Given the description of an element on the screen output the (x, y) to click on. 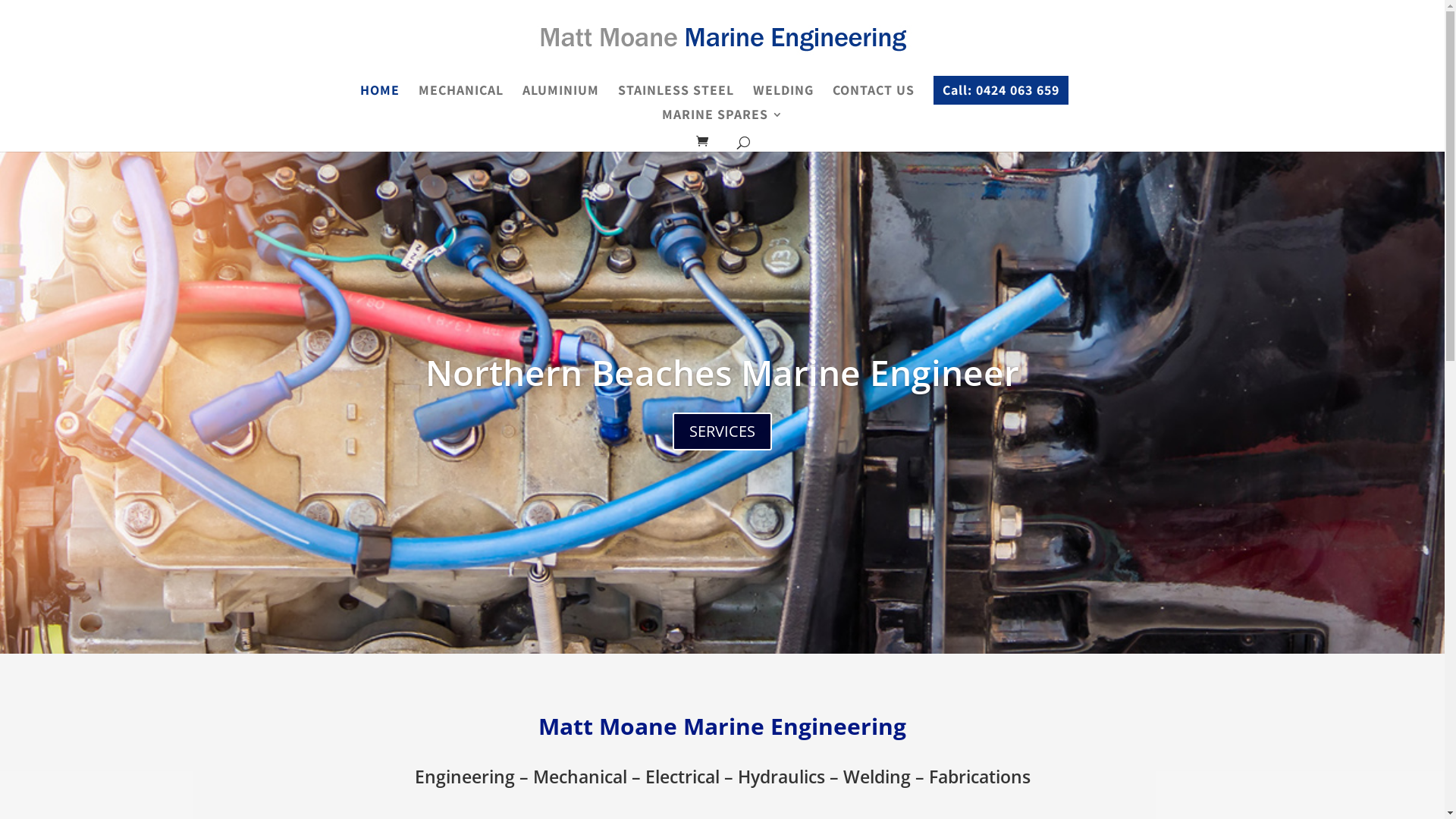
SERVICES Element type: text (721, 431)
MECHANICAL Element type: text (460, 96)
STAINLESS STEEL Element type: text (675, 96)
Call: 0424 063 659 Element type: text (999, 89)
HOME Element type: text (378, 96)
WELDING Element type: text (782, 96)
MARINE SPARES Element type: text (721, 121)
Northern Beaches Marine Engineer Element type: text (722, 371)
CONTACT US Element type: text (873, 96)
ALUMINIUM Element type: text (559, 96)
